Given the description of an element on the screen output the (x, y) to click on. 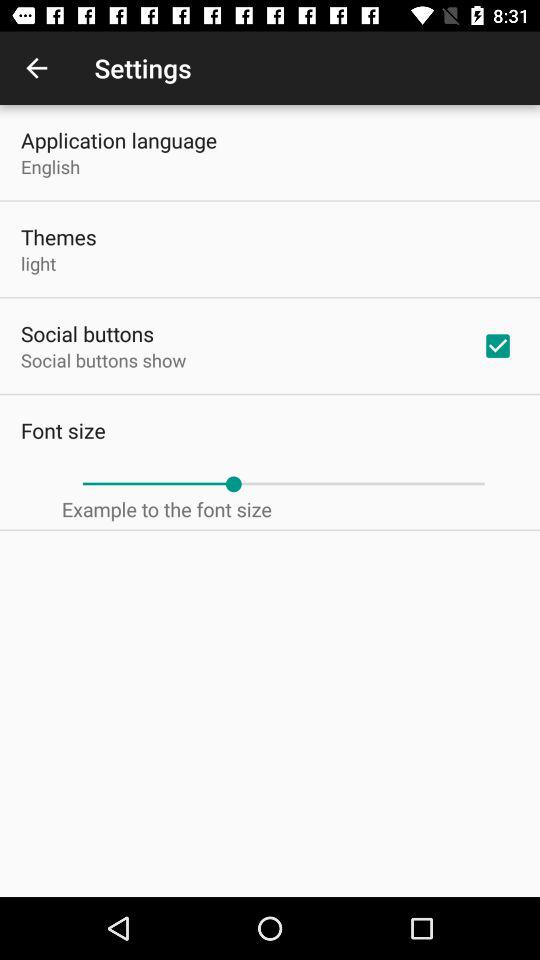
open the english (50, 166)
